Given the description of an element on the screen output the (x, y) to click on. 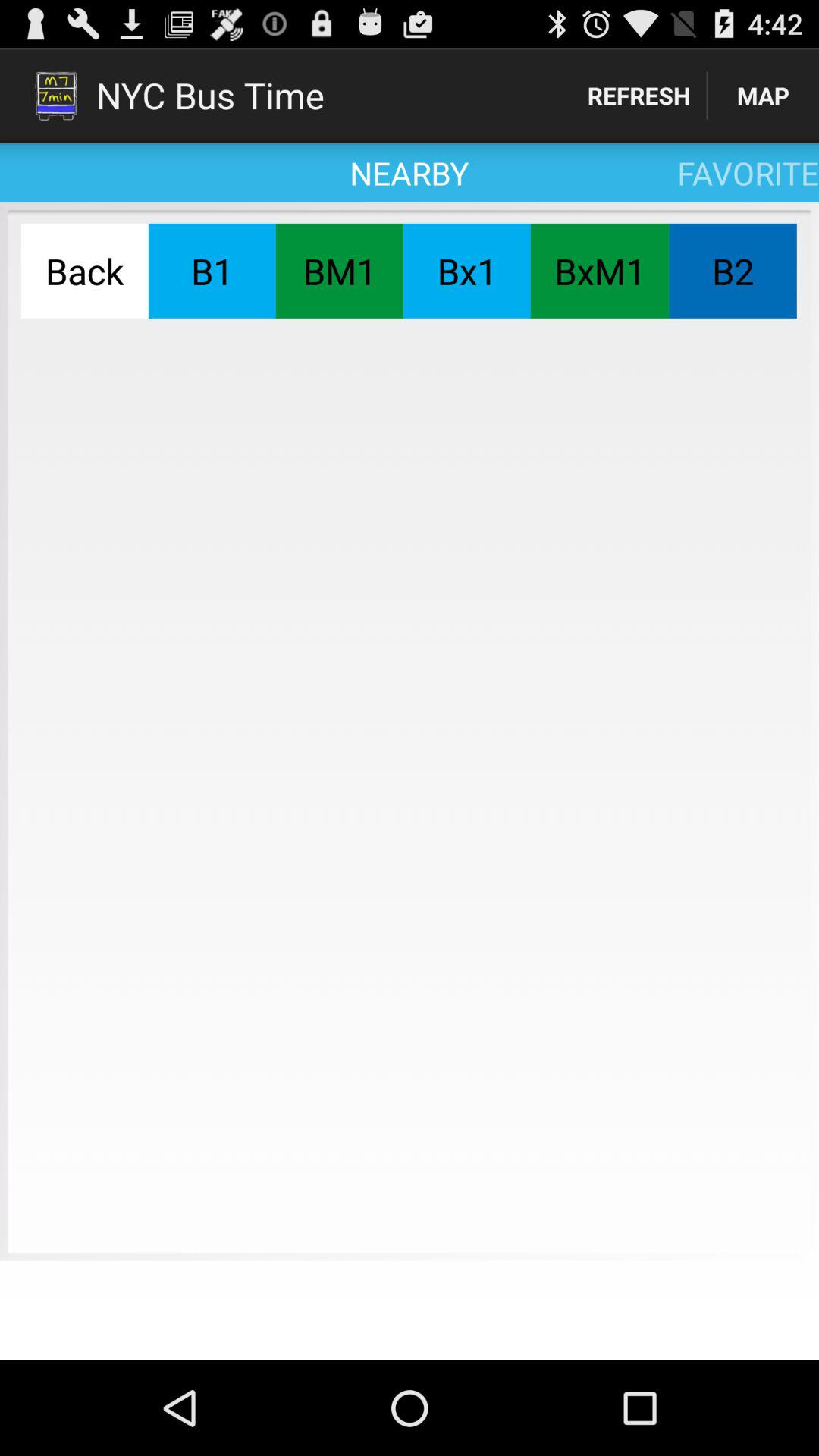
select the button to the right of bx1 button (599, 271)
